Given the description of an element on the screen output the (x, y) to click on. 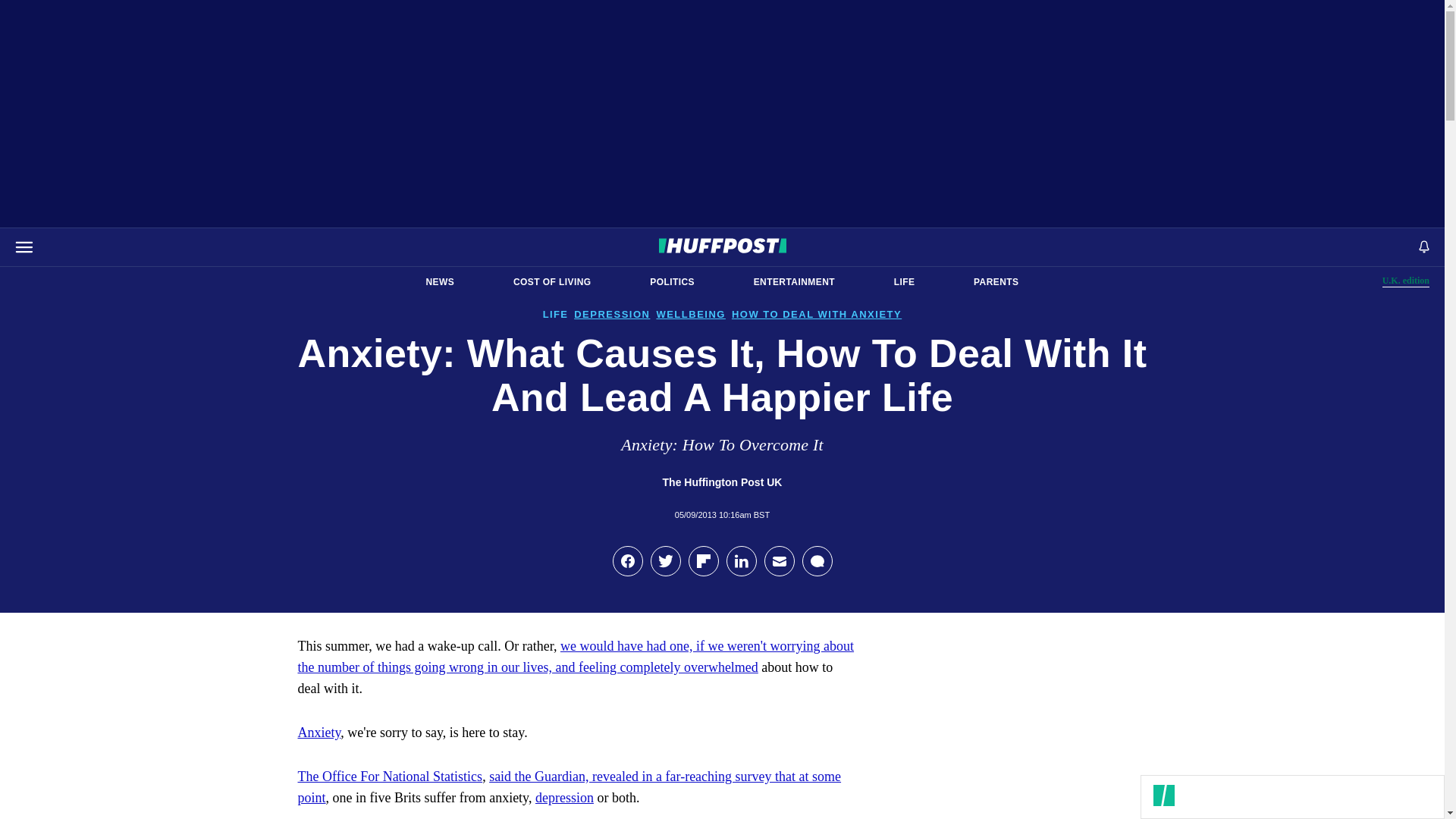
POLITICS (671, 281)
LIFE (904, 281)
NEWS (440, 281)
ENTERTAINMENT (794, 281)
COST OF LIVING (1405, 281)
PARENTS (552, 281)
